Given the description of an element on the screen output the (x, y) to click on. 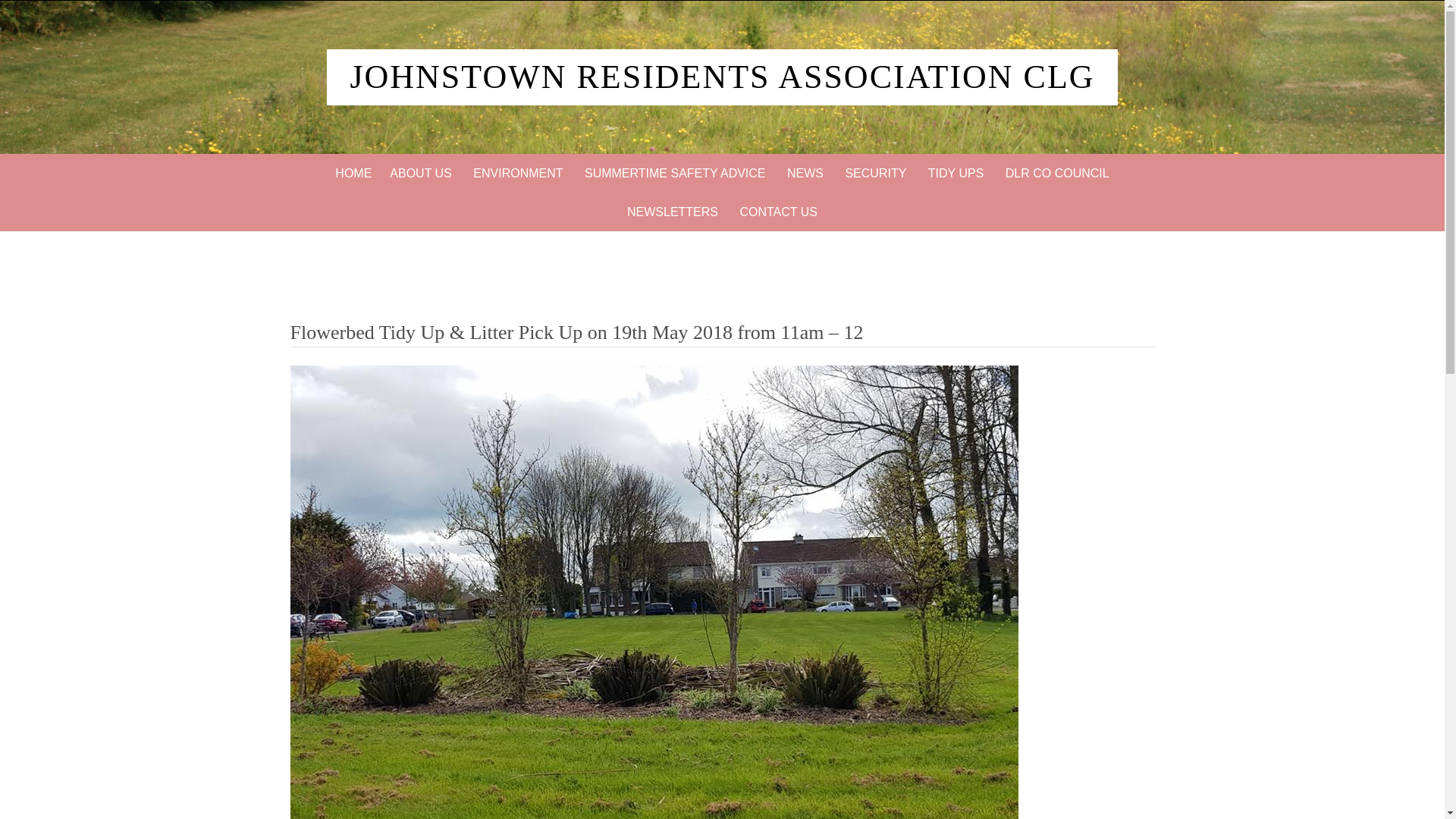
DLR CO COUNCIL (1056, 172)
ENVIRONMENT (518, 172)
Johnstown Residents Association clg  (721, 76)
JOHNSTOWN RESIDENTS ASSOCIATION CLG (721, 76)
CONTACT US (778, 211)
HOME (353, 172)
SECURITY (875, 172)
TIDY UPS (955, 172)
NEWSLETTERS (671, 211)
ABOUT US (420, 172)
NEWS (804, 172)
SUMMERTIME SAFETY ADVICE (674, 172)
